Given the description of an element on the screen output the (x, y) to click on. 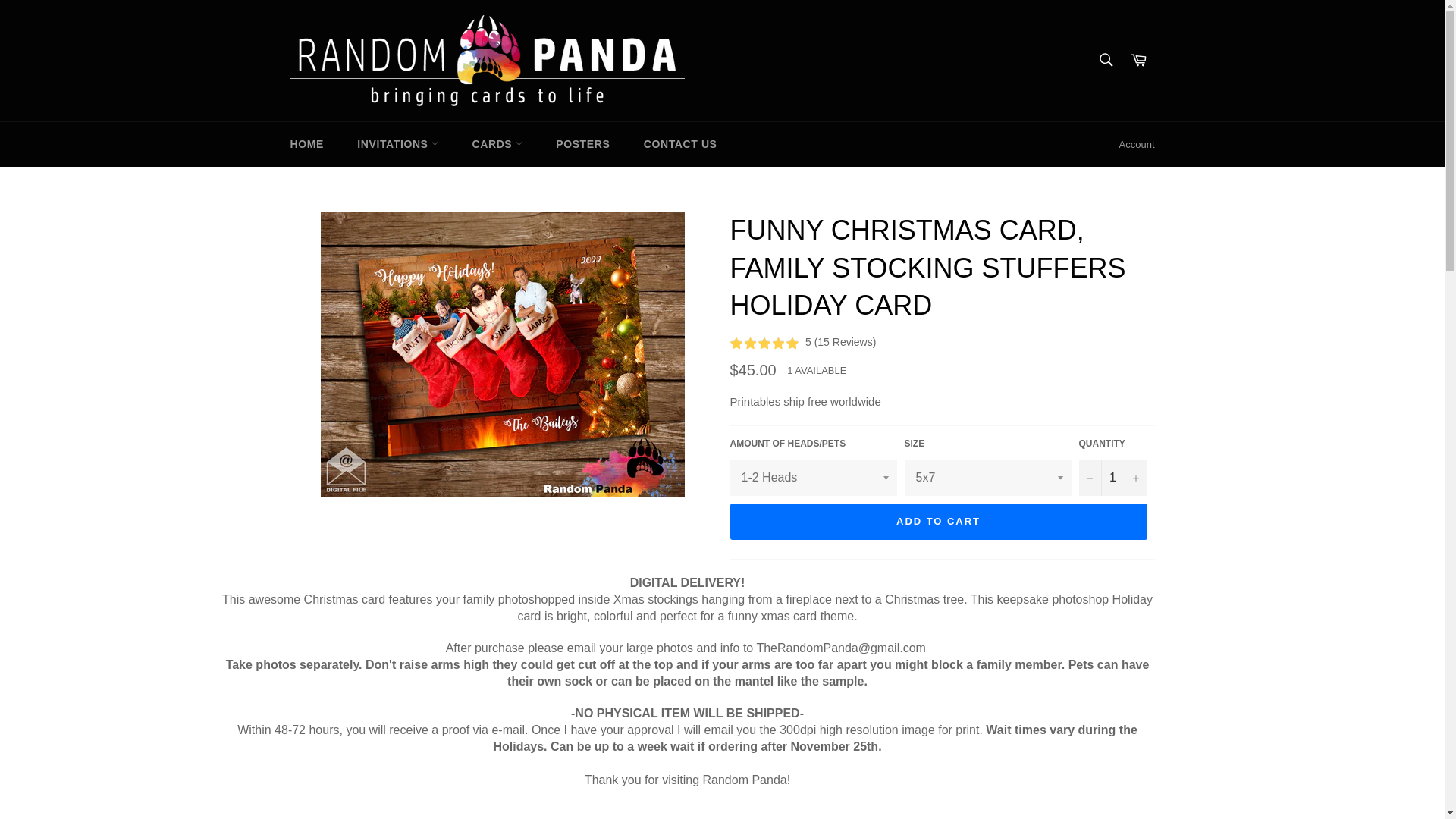
1 (1112, 477)
CARDS (497, 144)
Search (1104, 60)
HOME (306, 144)
INVITATIONS (397, 144)
Cart (1138, 60)
